Given the description of an element on the screen output the (x, y) to click on. 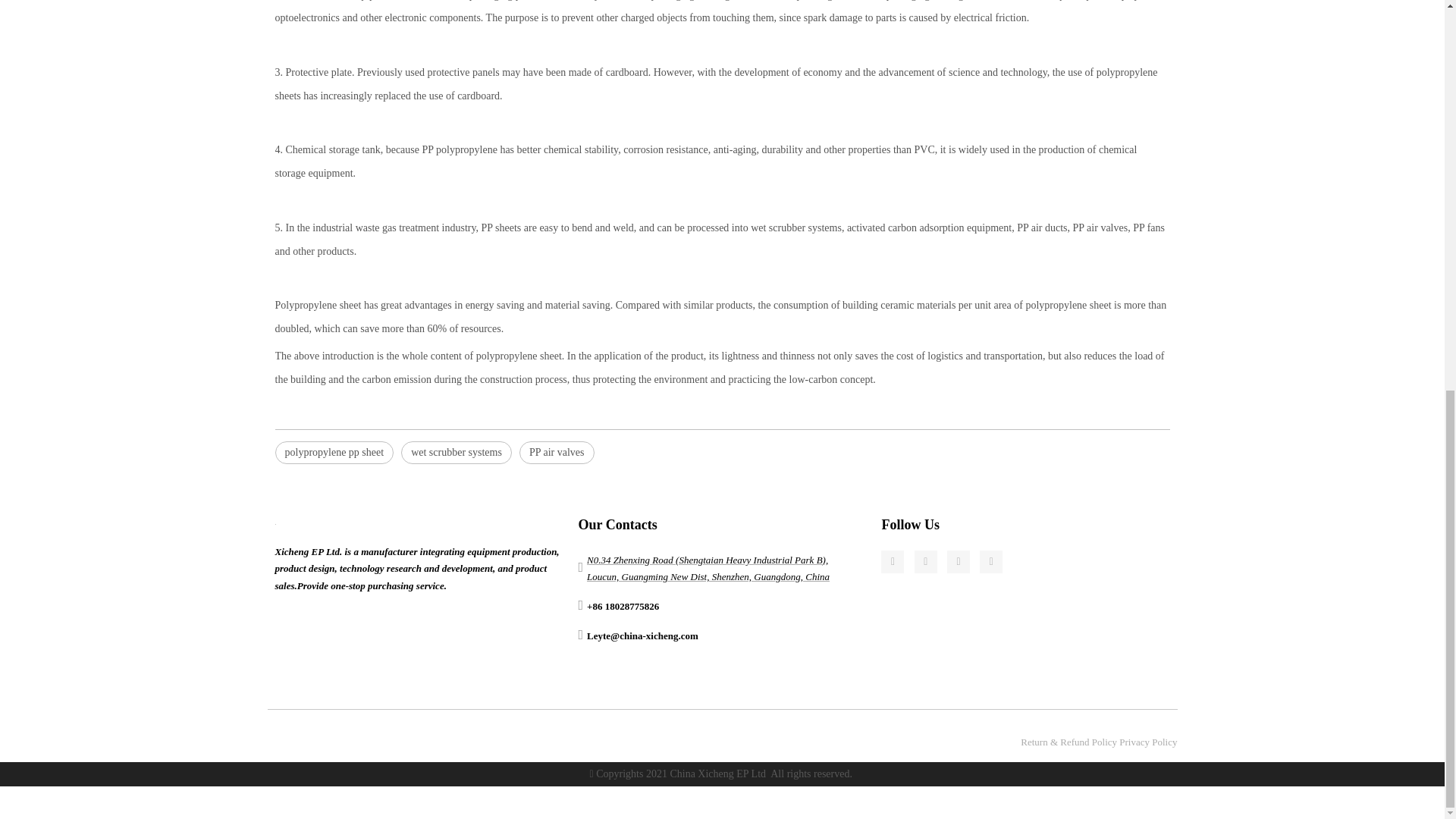
polypropylene pp sheet (334, 452)
PP air valves (556, 452)
wet scrubber systems (456, 452)
